Given the description of an element on the screen output the (x, y) to click on. 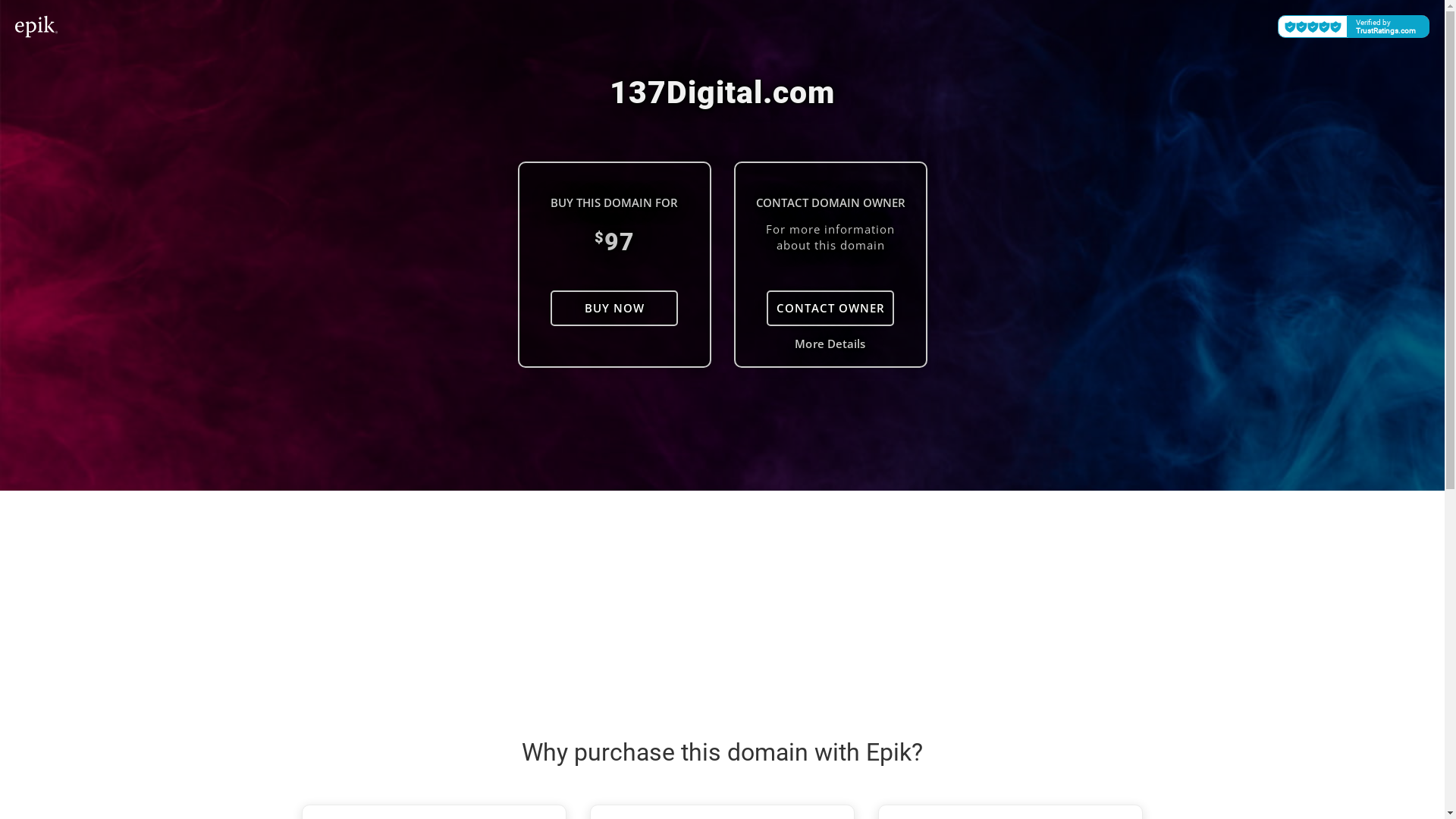
CONTACT OWNER Element type: text (830, 308)
Verified by TrustRatings.com Element type: hover (1353, 26)
More Details Element type: text (830, 343)
BUY NOW Element type: text (613, 308)
